Given the description of an element on the screen output the (x, y) to click on. 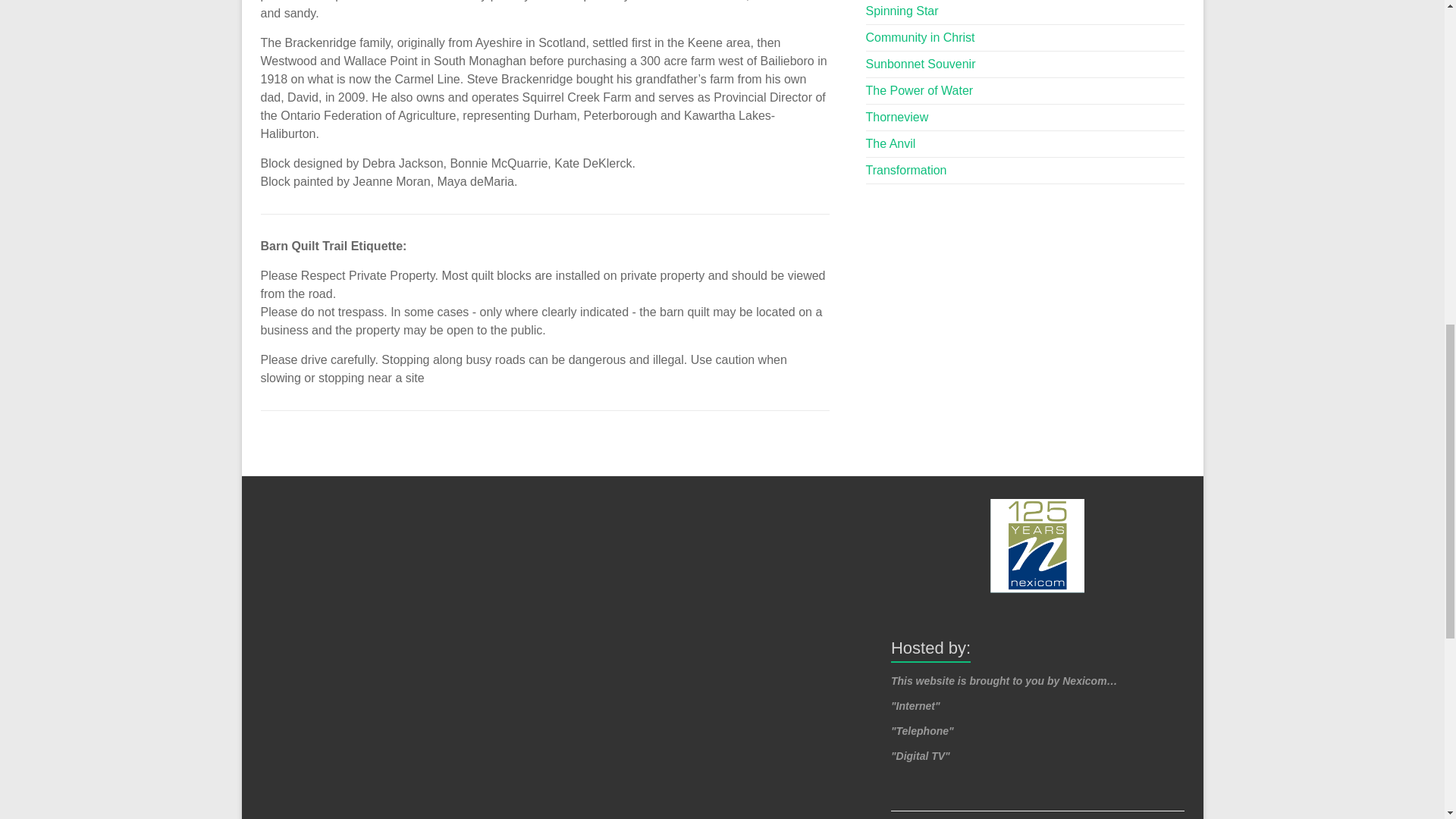
Thorneview (897, 116)
Sunbonnet Souvenir (920, 63)
Transformation (906, 169)
Community in Christ (920, 37)
The Power of Water (920, 90)
The Anvil (890, 143)
Spinning Star (902, 10)
